Given the description of an element on the screen output the (x, y) to click on. 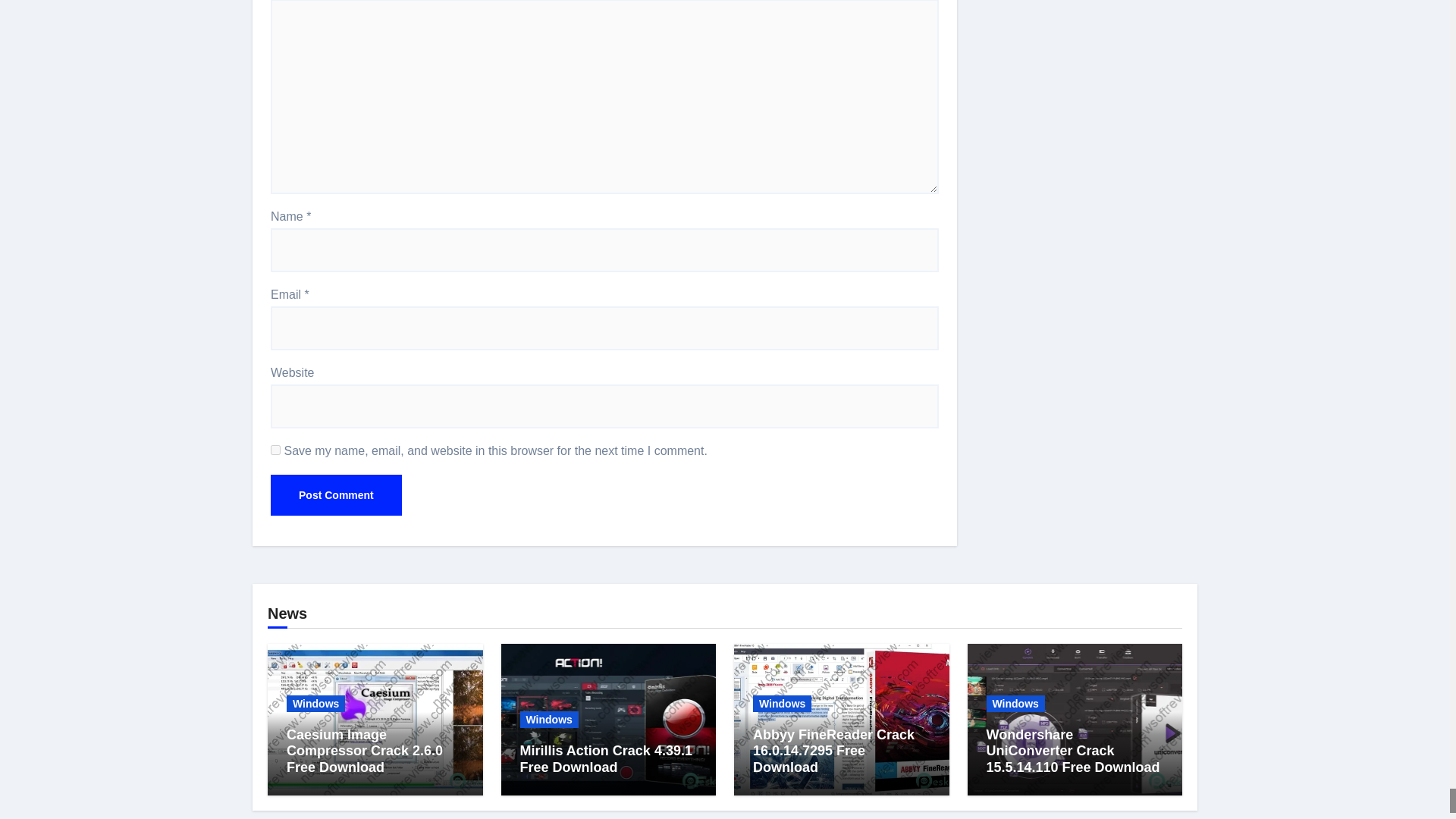
Post Comment (335, 495)
yes (275, 450)
Permalink to: Mirillis Action Crack 4.39.1 Free Download (606, 758)
